Given the description of an element on the screen output the (x, y) to click on. 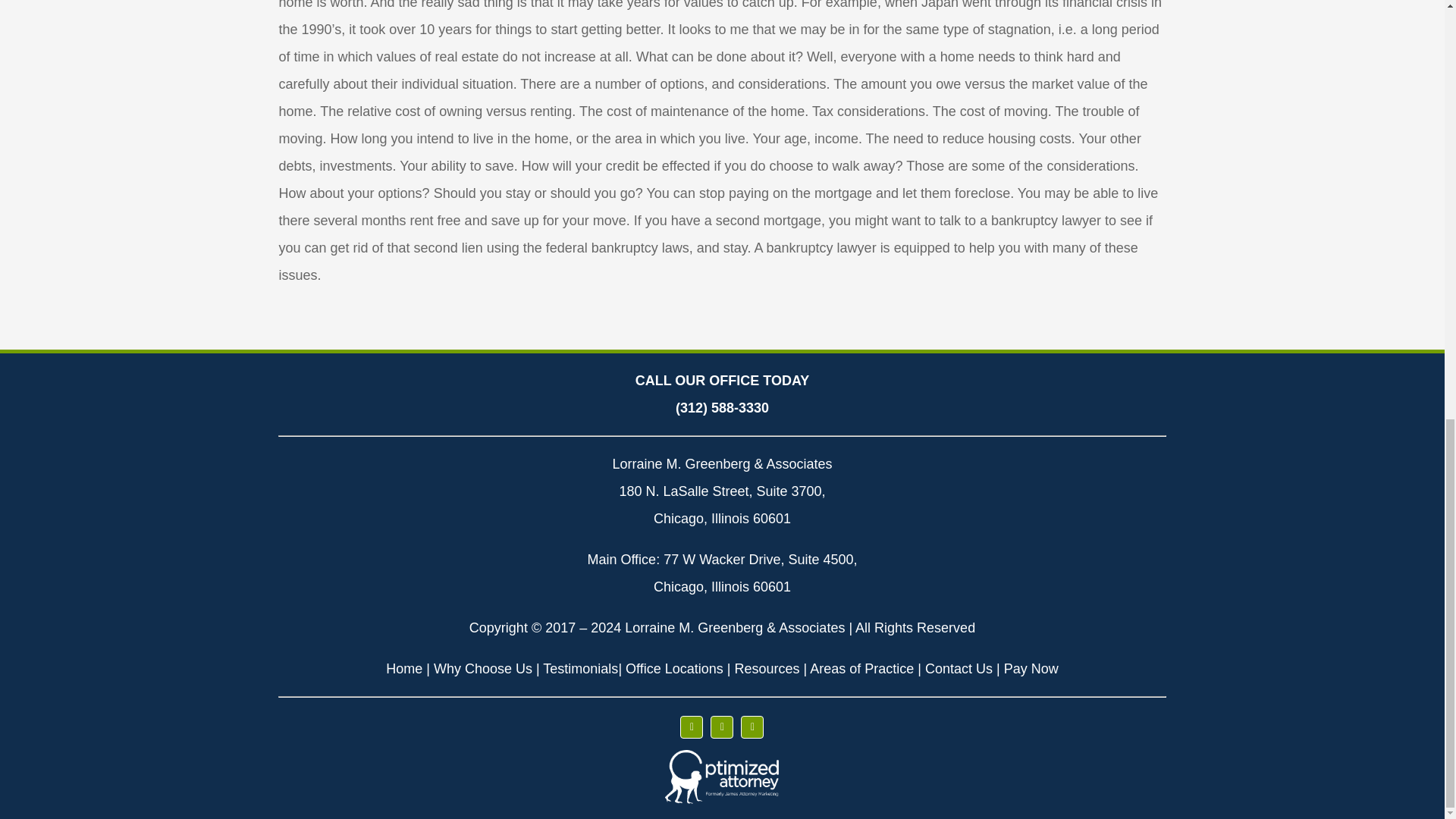
Facebook (691, 726)
Twitter (721, 726)
LinkedIn (751, 726)
